Given the description of an element on the screen output the (x, y) to click on. 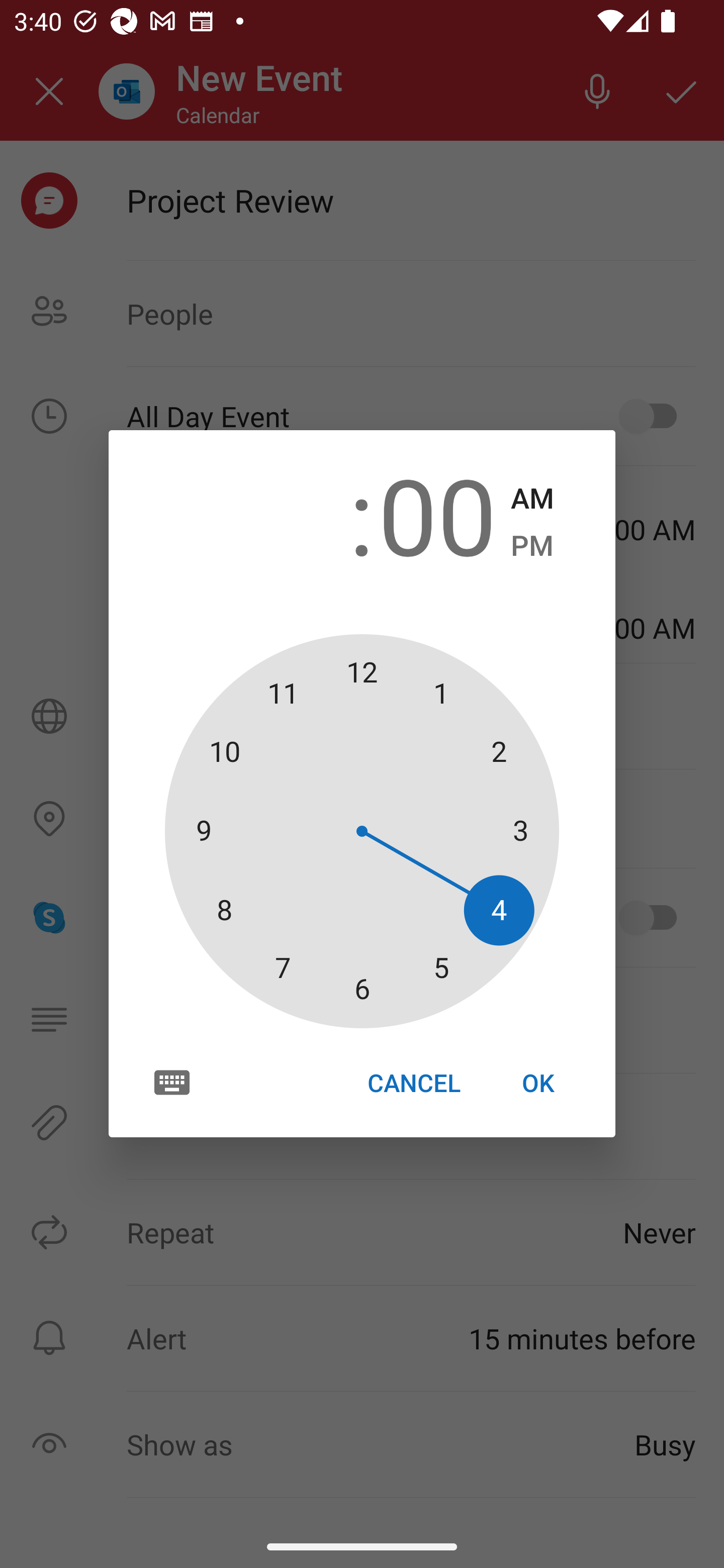
4 (285, 513)
00 (436, 513)
AM (532, 498)
PM (532, 546)
CANCEL (413, 1082)
OK (537, 1082)
Switch to text input mode for the time input. (171, 1081)
